Given the description of an element on the screen output the (x, y) to click on. 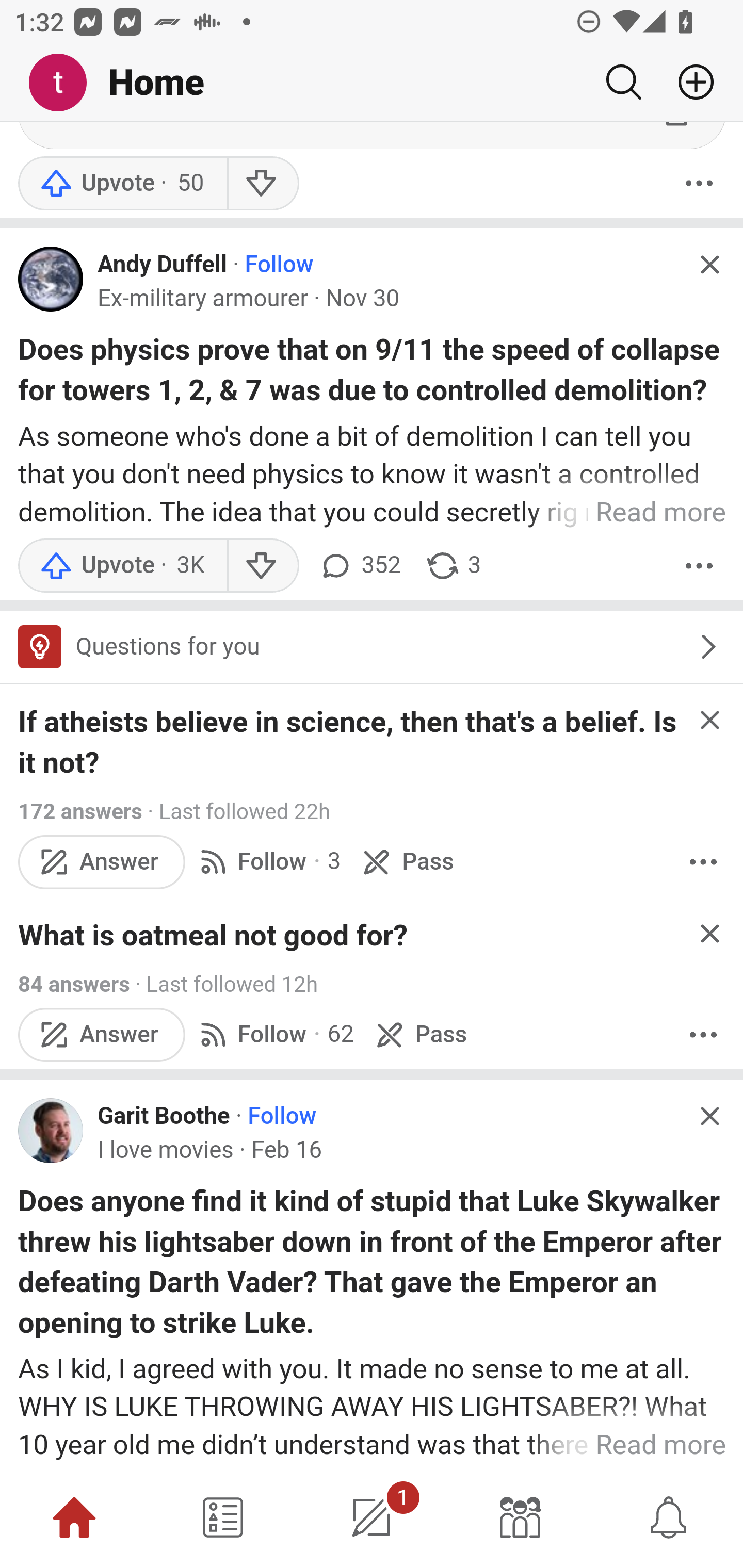
Me (64, 83)
Search (623, 82)
Add (688, 82)
Upvote (122, 184)
Downvote (262, 184)
More (699, 184)
Hide (709, 267)
Profile photo for Andy Duffell (50, 280)
Andy Duffell (162, 266)
Follow (278, 266)
Upvote (122, 566)
Downvote (262, 566)
352 comments (359, 566)
3 shares (452, 566)
More (699, 566)
Questions for you (371, 647)
Hide (709, 721)
172 answers 172  answers (79, 814)
Answer (101, 863)
Follow · 3 (267, 863)
Pass (405, 863)
More (703, 863)
Hide (709, 935)
What is oatmeal not good for? (213, 936)
84 answers 84  answers (73, 986)
Answer (101, 1036)
Follow · 62 (274, 1036)
Pass (419, 1036)
More (703, 1036)
Hide (709, 1116)
Profile photo for Garit Boothe (50, 1131)
Garit Boothe (164, 1119)
Follow (282, 1119)
1 (371, 1517)
